Given the description of an element on the screen output the (x, y) to click on. 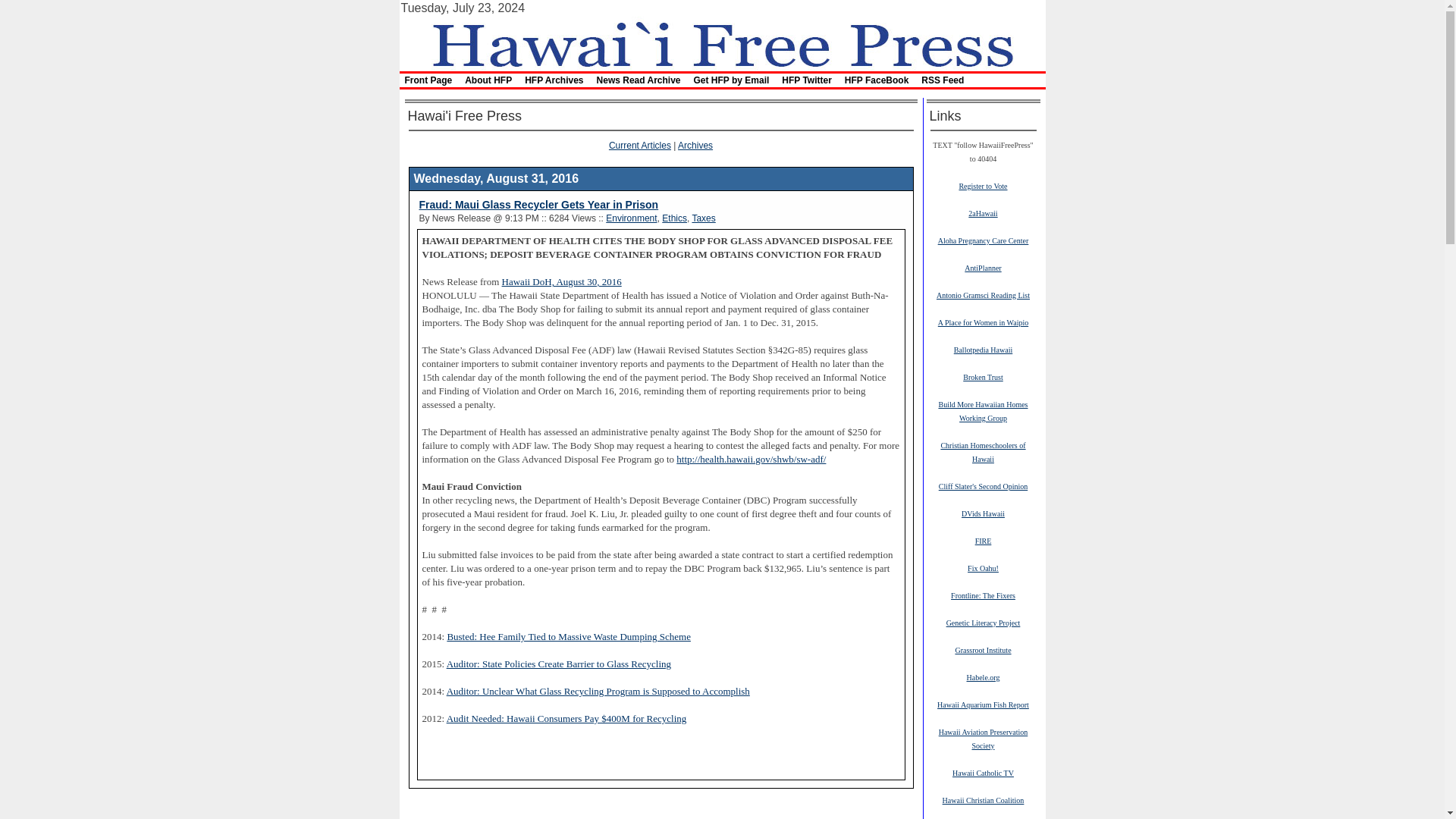
2aHawaii (982, 213)
Ethics (674, 217)
FIRE (983, 540)
Hawaii Christian Coalition (983, 799)
Taxes (702, 217)
Cliff Slater's Second Opinion (983, 485)
Register to Vote (982, 185)
Habele.org (983, 676)
Genetic Literacy Project (983, 622)
Aloha Pregnancy Care Center (983, 240)
Environment (630, 217)
Build More Hawaiian Homes Working Group (982, 410)
Hawaii Free Press (721, 42)
A Place for Women in Waipio (982, 321)
Antonio Gramsci Reading List (982, 294)
